Given the description of an element on the screen output the (x, y) to click on. 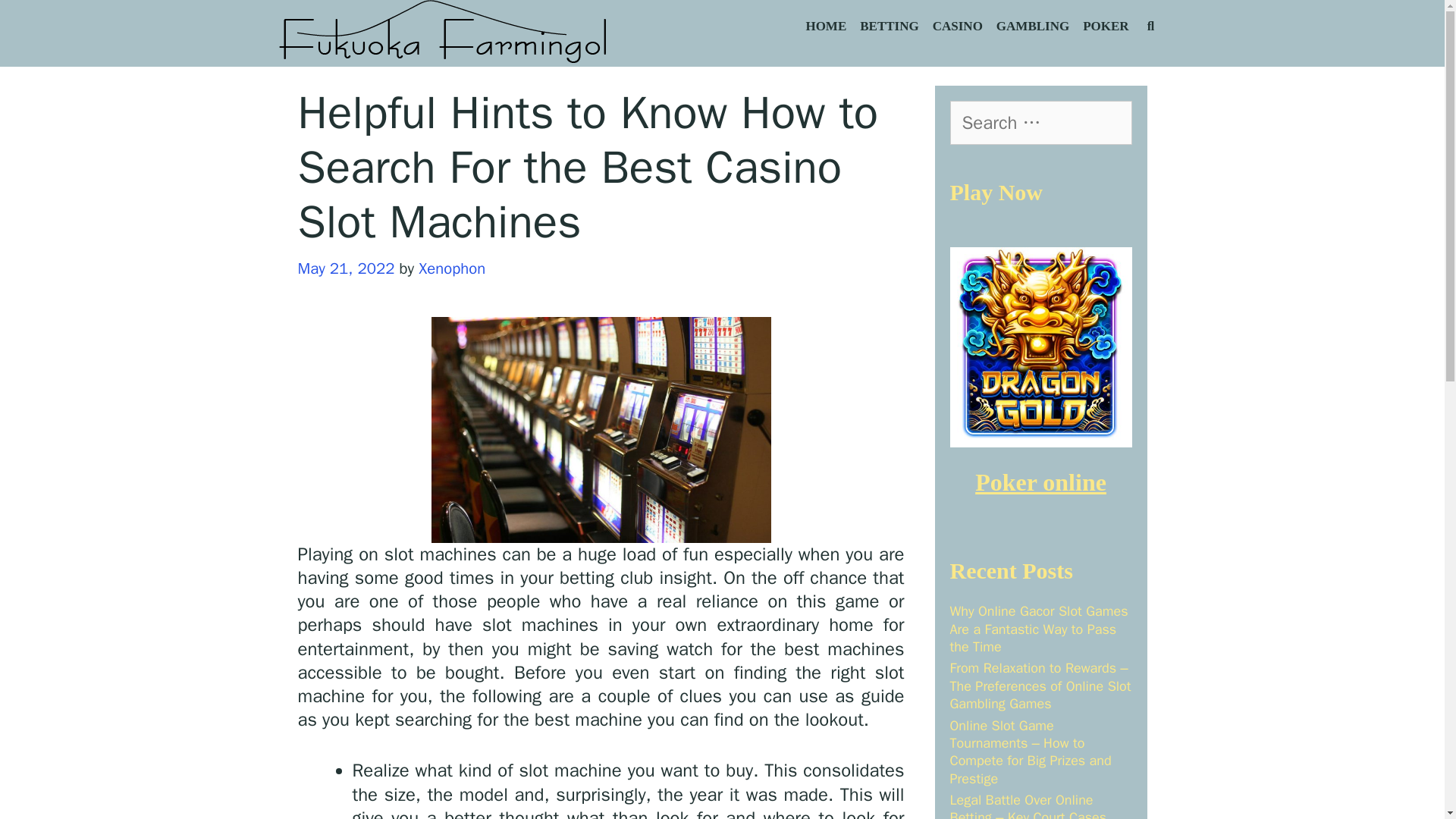
Fukuoka Farmingol (443, 31)
Poker online (1040, 482)
Xenophon (451, 268)
CASINO (958, 26)
View all posts by Xenophon (451, 268)
Search (183, 26)
POKER (1105, 26)
HOME (825, 26)
BETTING (888, 26)
Search for: (1040, 122)
